Given the description of an element on the screen output the (x, y) to click on. 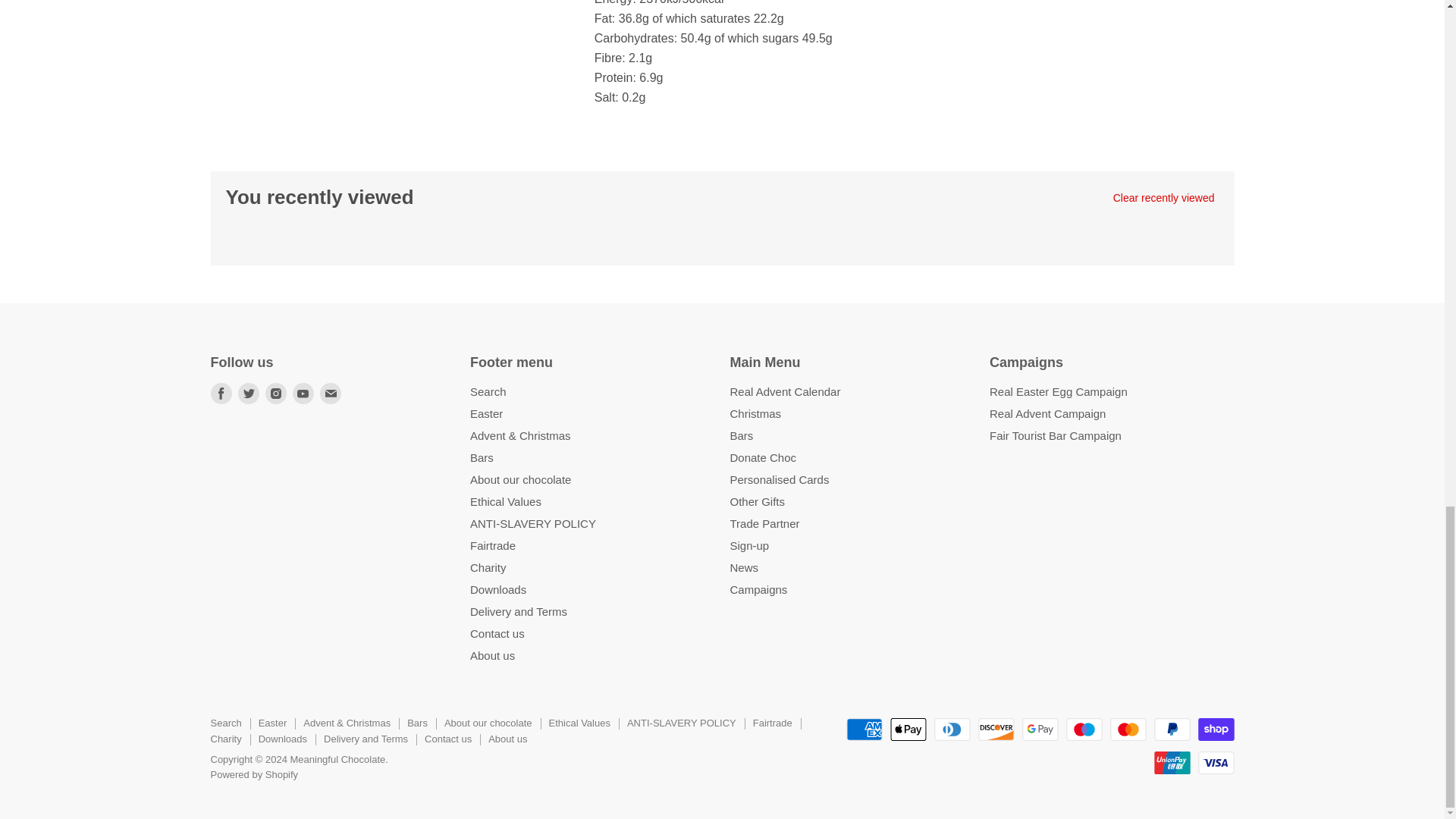
American Express (863, 729)
Facebook (221, 393)
E-mail (330, 393)
Twitter (248, 393)
Youtube (303, 393)
Instagram (275, 393)
